Given the description of an element on the screen output the (x, y) to click on. 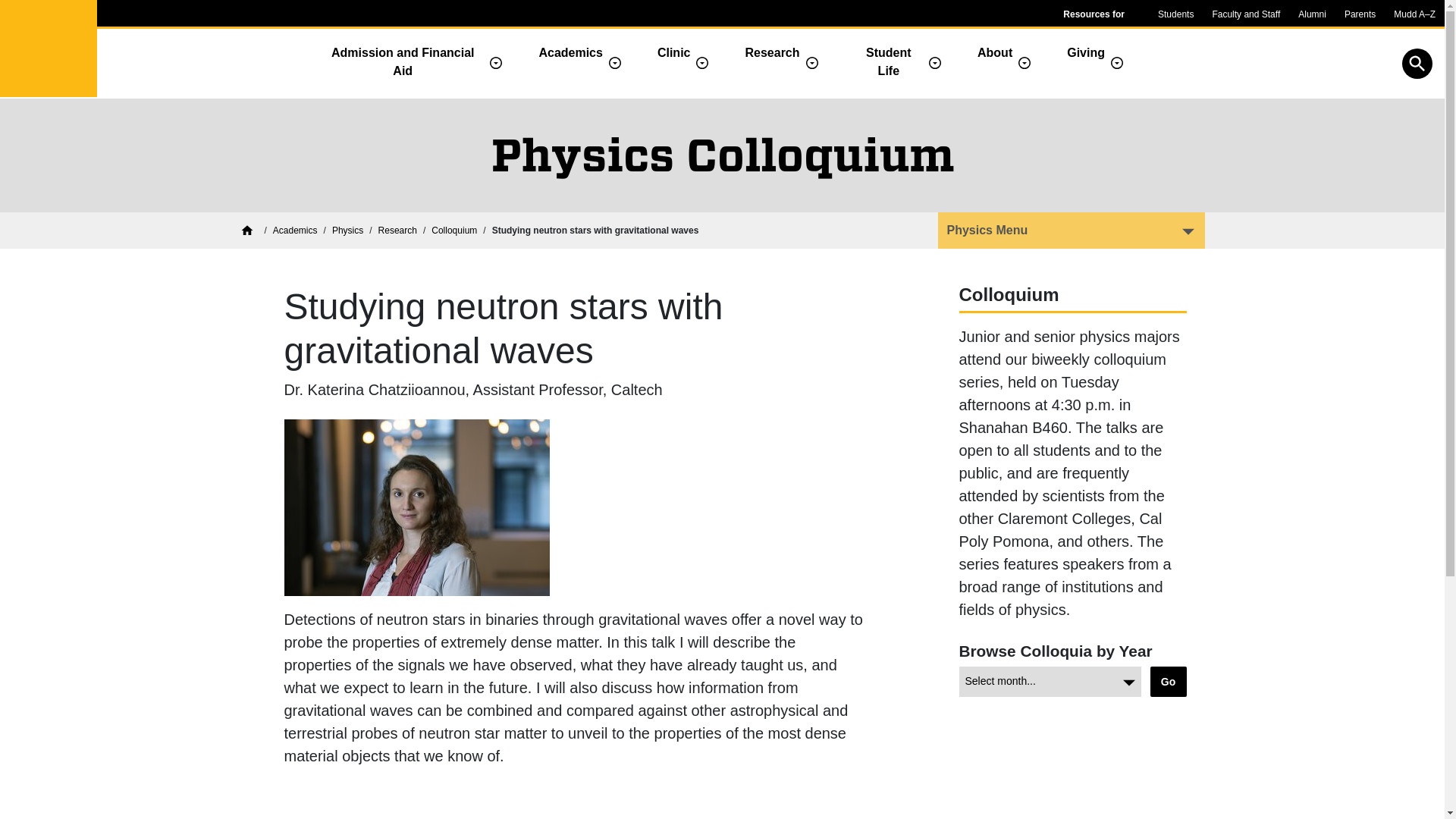
Academics (570, 62)
Admission and Financial Aid (402, 62)
Home (47, 47)
Parents (1359, 14)
Open search (1417, 63)
Faculty and Staff (1245, 14)
Students (1175, 14)
Alumni (1311, 14)
